Given the description of an element on the screen output the (x, y) to click on. 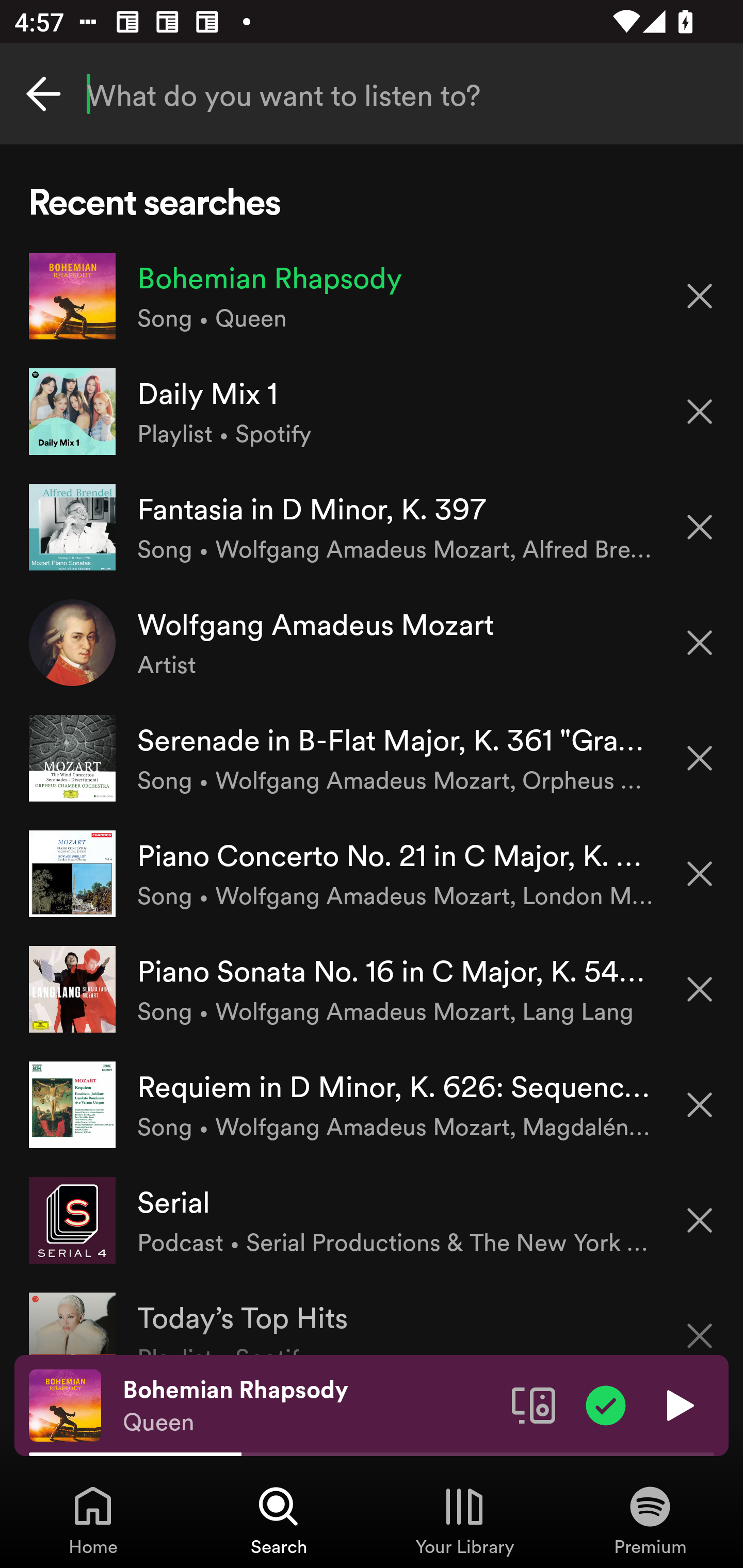
What do you want to listen to? (371, 93)
Cancel (43, 93)
Bohemian Rhapsody Song • Queen Remove (371, 296)
Remove (699, 295)
Daily Mix 1 Playlist • Spotify Remove (371, 411)
Remove (699, 411)
Remove (699, 527)
Wolfgang Amadeus Mozart Artist Remove (371, 642)
Remove (699, 642)
Remove (699, 758)
Remove (699, 874)
Remove (699, 989)
Remove (699, 1104)
Remove (699, 1220)
Today’s Top Hits Playlist • Spotify Remove (371, 1315)
Remove (699, 1323)
Bohemian Rhapsody Queen (309, 1405)
The cover art of the currently playing track (64, 1404)
Connect to a device. Opens the devices menu (533, 1404)
Item added (605, 1404)
Play (677, 1404)
Home, Tab 1 of 4 Home Home (92, 1519)
Search, Tab 2 of 4 Search Search (278, 1519)
Your Library, Tab 3 of 4 Your Library Your Library (464, 1519)
Premium, Tab 4 of 4 Premium Premium (650, 1519)
